Given the description of an element on the screen output the (x, y) to click on. 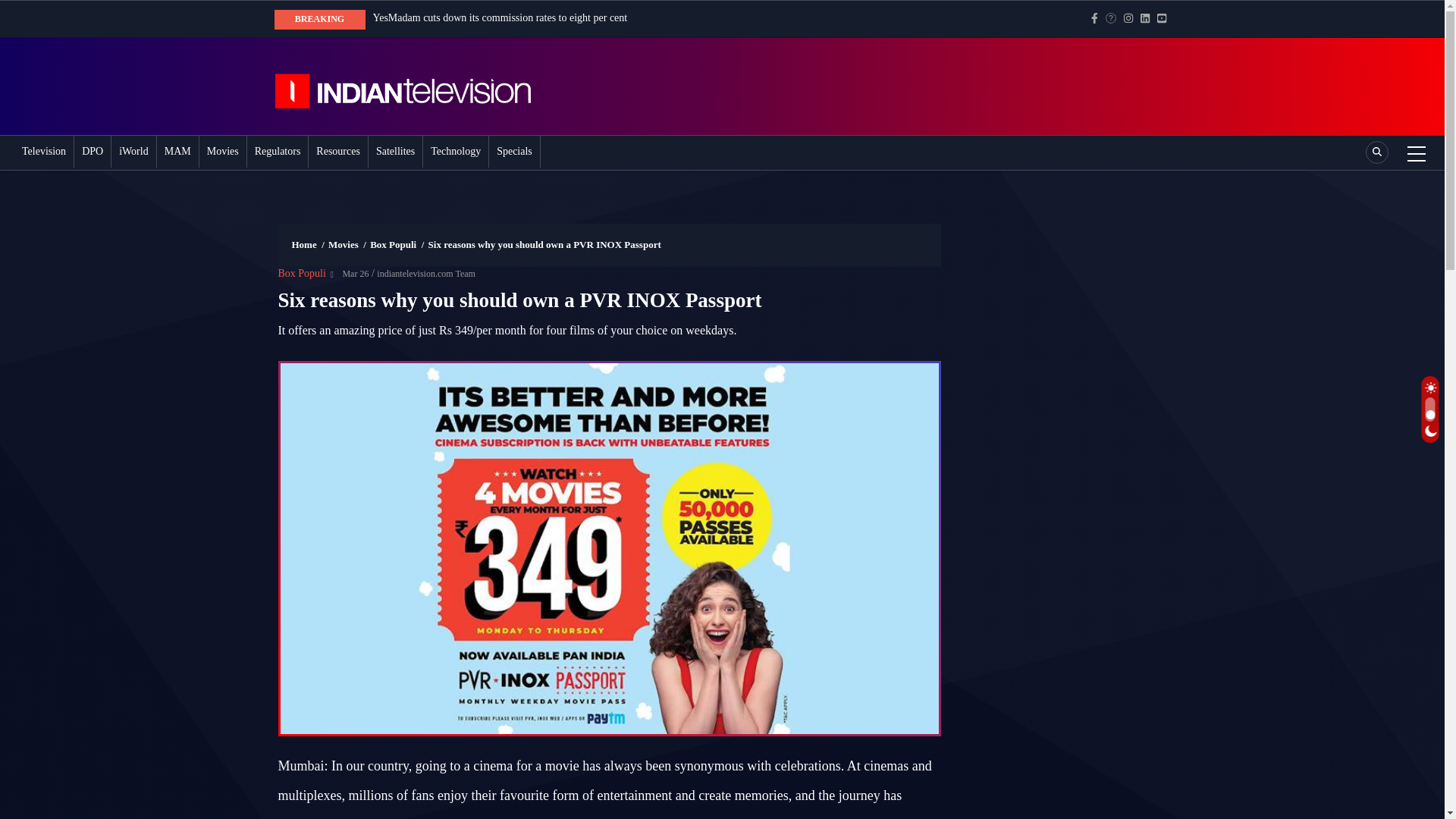
Television (43, 151)
Home (419, 86)
YesMadam cuts down its commission rates to eight per cent (499, 17)
Television (43, 151)
